Given the description of an element on the screen output the (x, y) to click on. 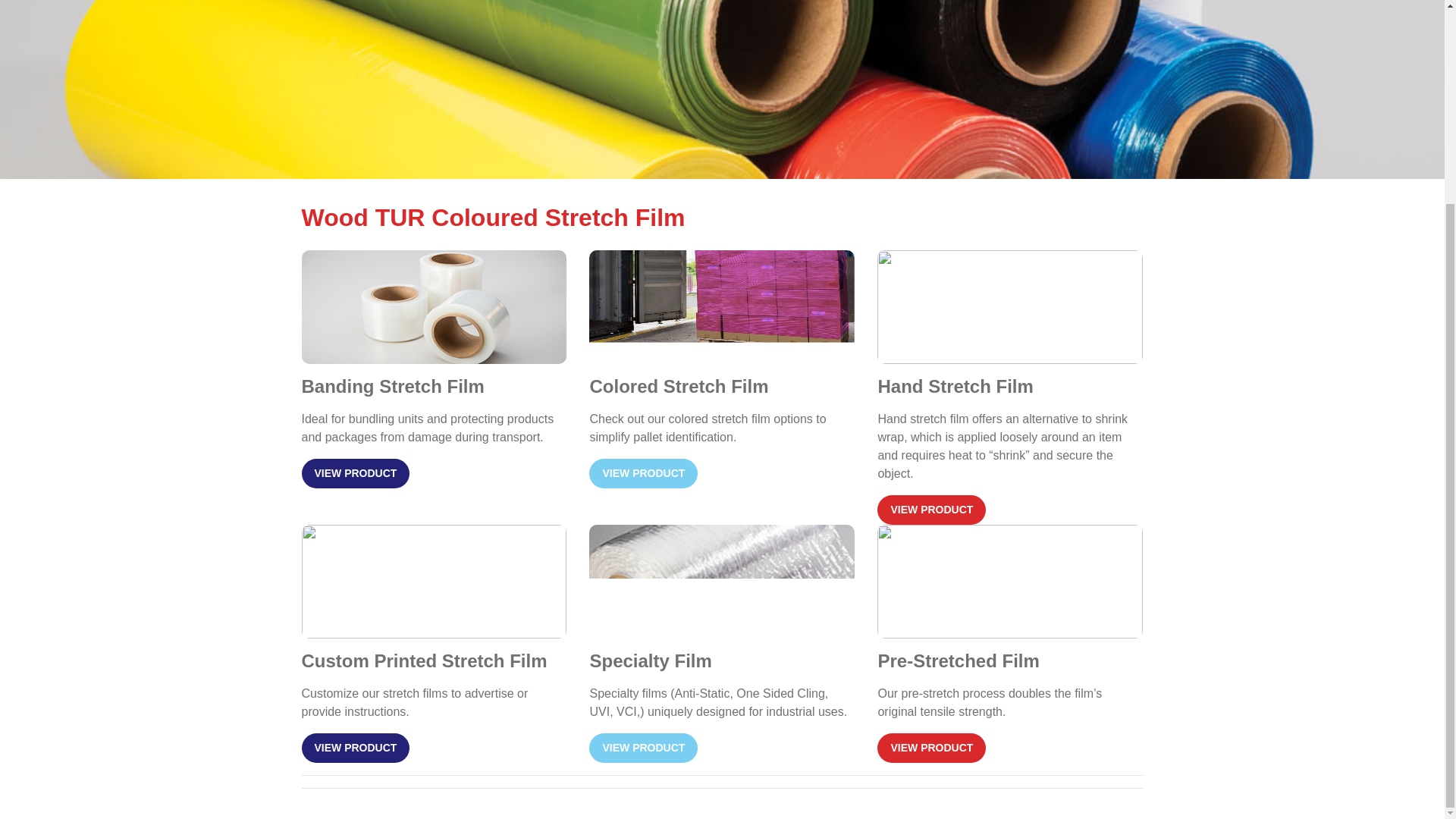
VIEW PRODUCT (355, 473)
VIEW PRODUCT (643, 747)
VIEW PRODUCT (931, 509)
VIEW PRODUCT (355, 747)
VIEW PRODUCT (931, 747)
VIEW PRODUCT (643, 473)
